Given the description of an element on the screen output the (x, y) to click on. 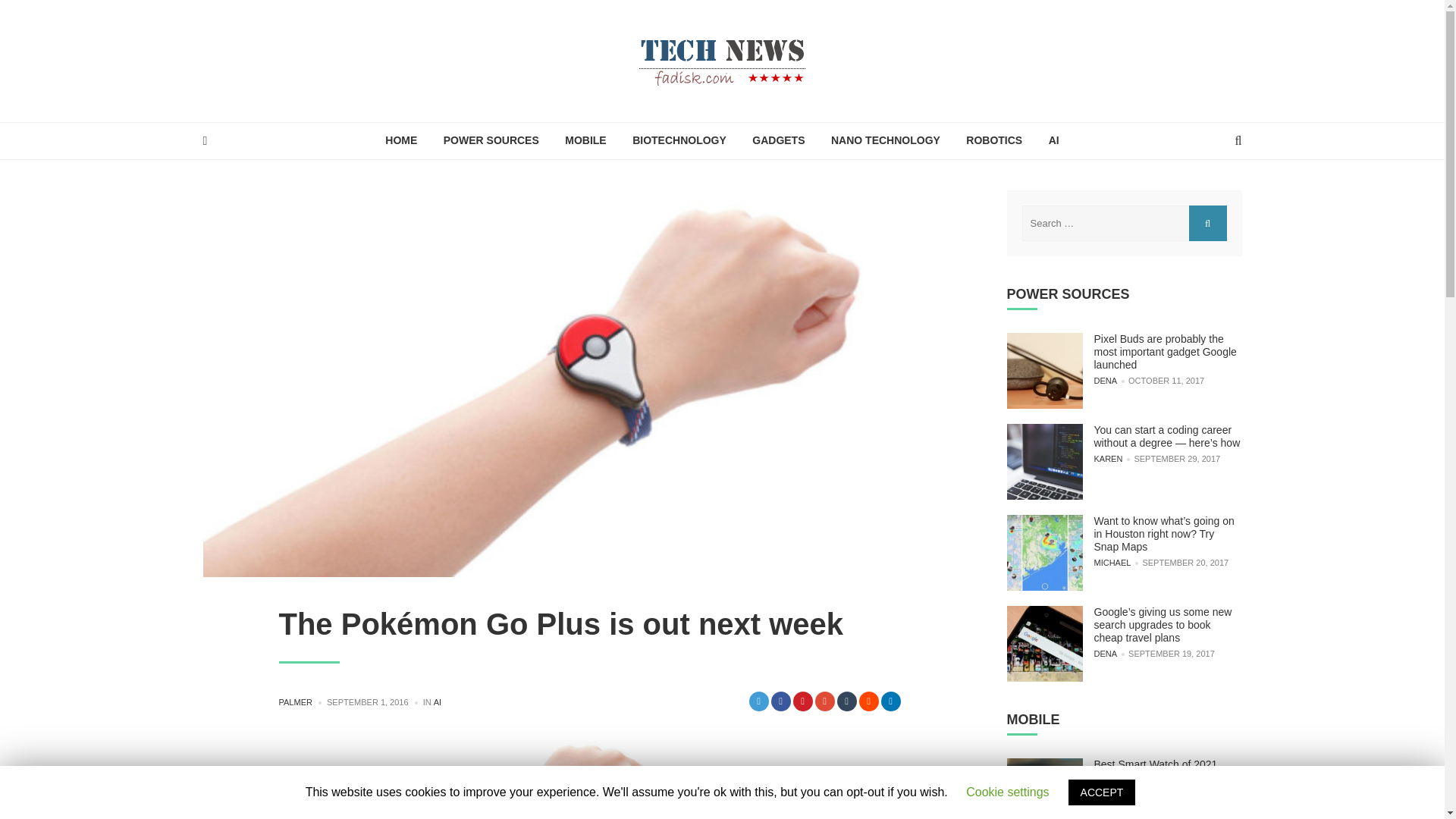
HOME (401, 140)
NANO TECHNOLOGY (885, 140)
MOBILE (585, 140)
BIOTECHNOLOGY (679, 140)
GADGETS (778, 140)
PALMER (296, 701)
AI (1053, 140)
ROBOTICS (994, 140)
POWER SOURCES (491, 140)
SEARCH (1208, 222)
